Given the description of an element on the screen output the (x, y) to click on. 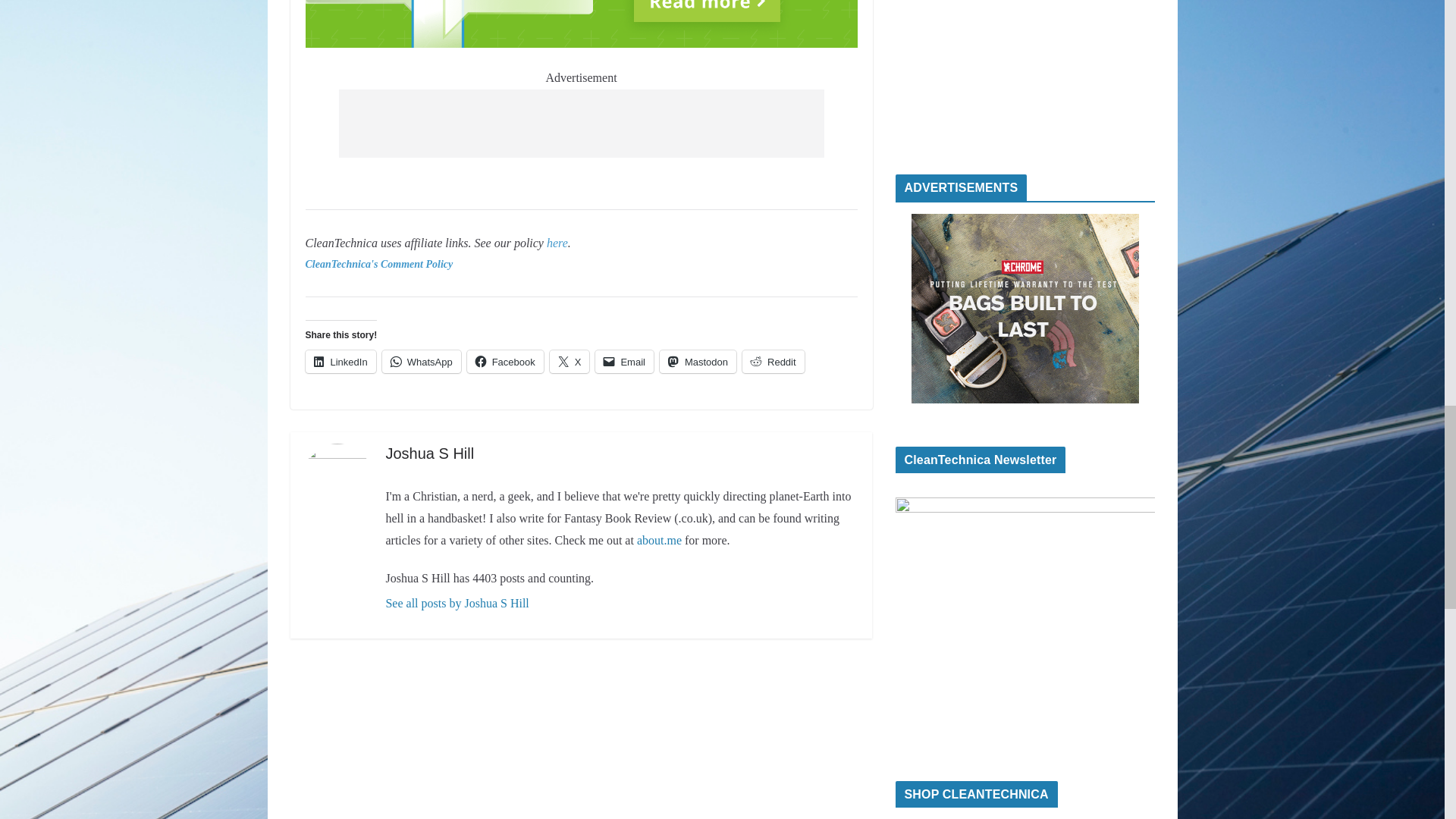
Click to share on Mastodon (697, 361)
Click to share on X (569, 361)
Click to share on WhatsApp (421, 361)
Click to share on Reddit (773, 361)
Click to share on Facebook (505, 361)
Click to email a link to a friend (624, 361)
Click to share on LinkedIn (339, 361)
